Given the description of an element on the screen output the (x, y) to click on. 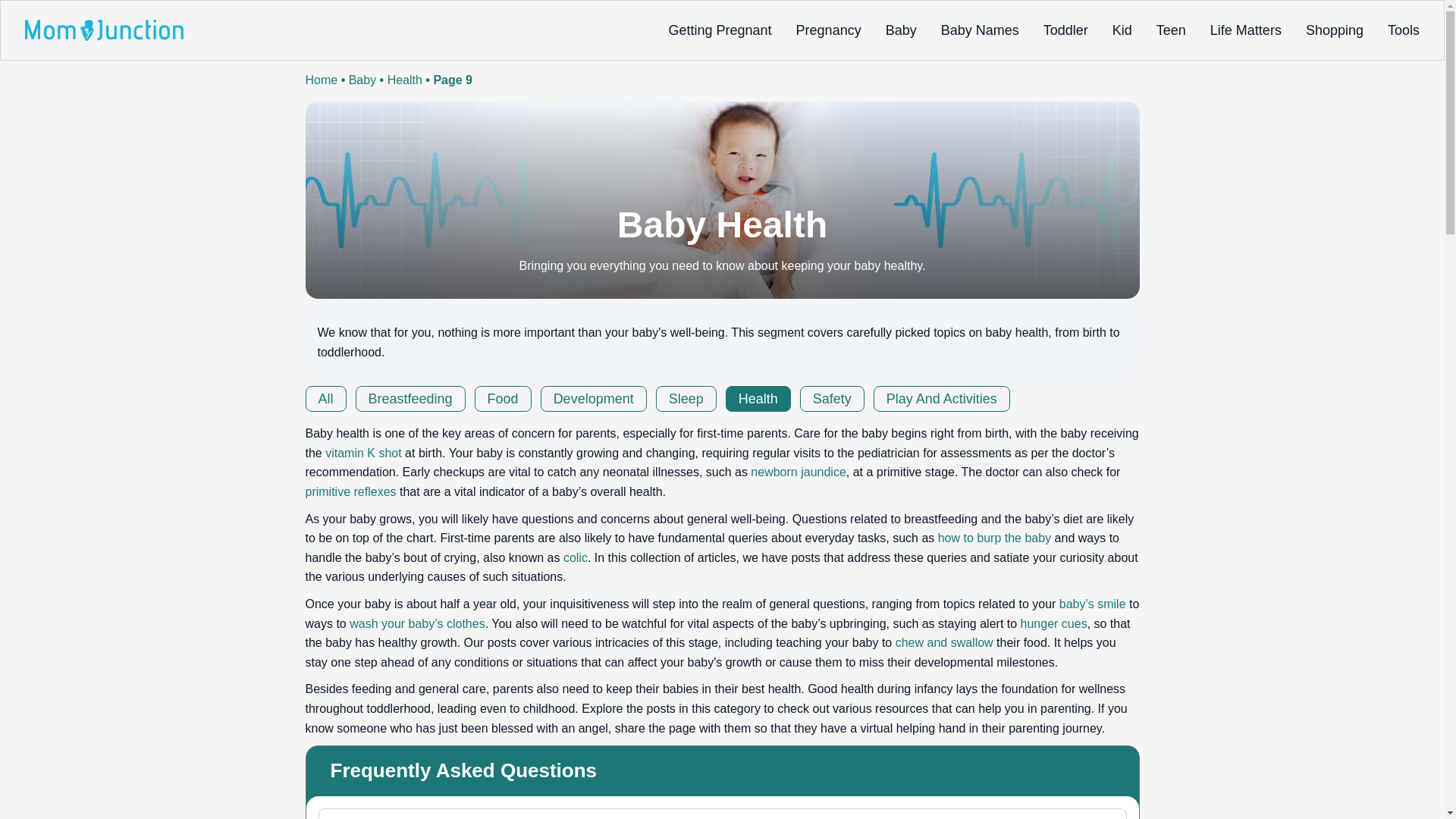
Pregnancy (828, 30)
Getting Pregnant (719, 30)
Baby Names (979, 30)
Toddler (1065, 30)
